Given the description of an element on the screen output the (x, y) to click on. 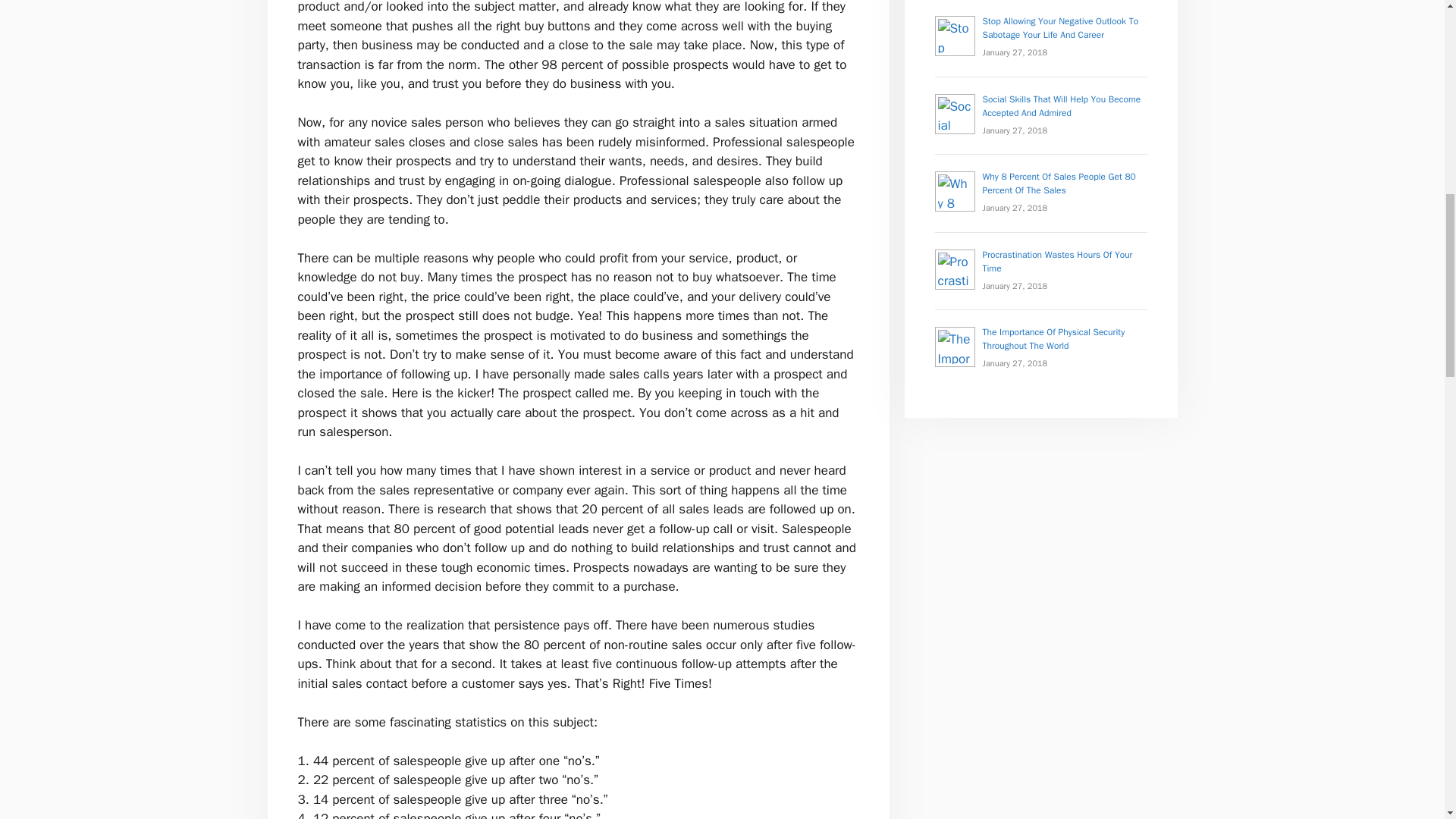
Procrastination Wastes Hours Of Your Time (1057, 261)
Social Skills That Will Help You Become Accepted And Admired (1061, 105)
Why 8 Percent Of Sales People Get 80 Percent Of The Sales (1058, 183)
